Given the description of an element on the screen output the (x, y) to click on. 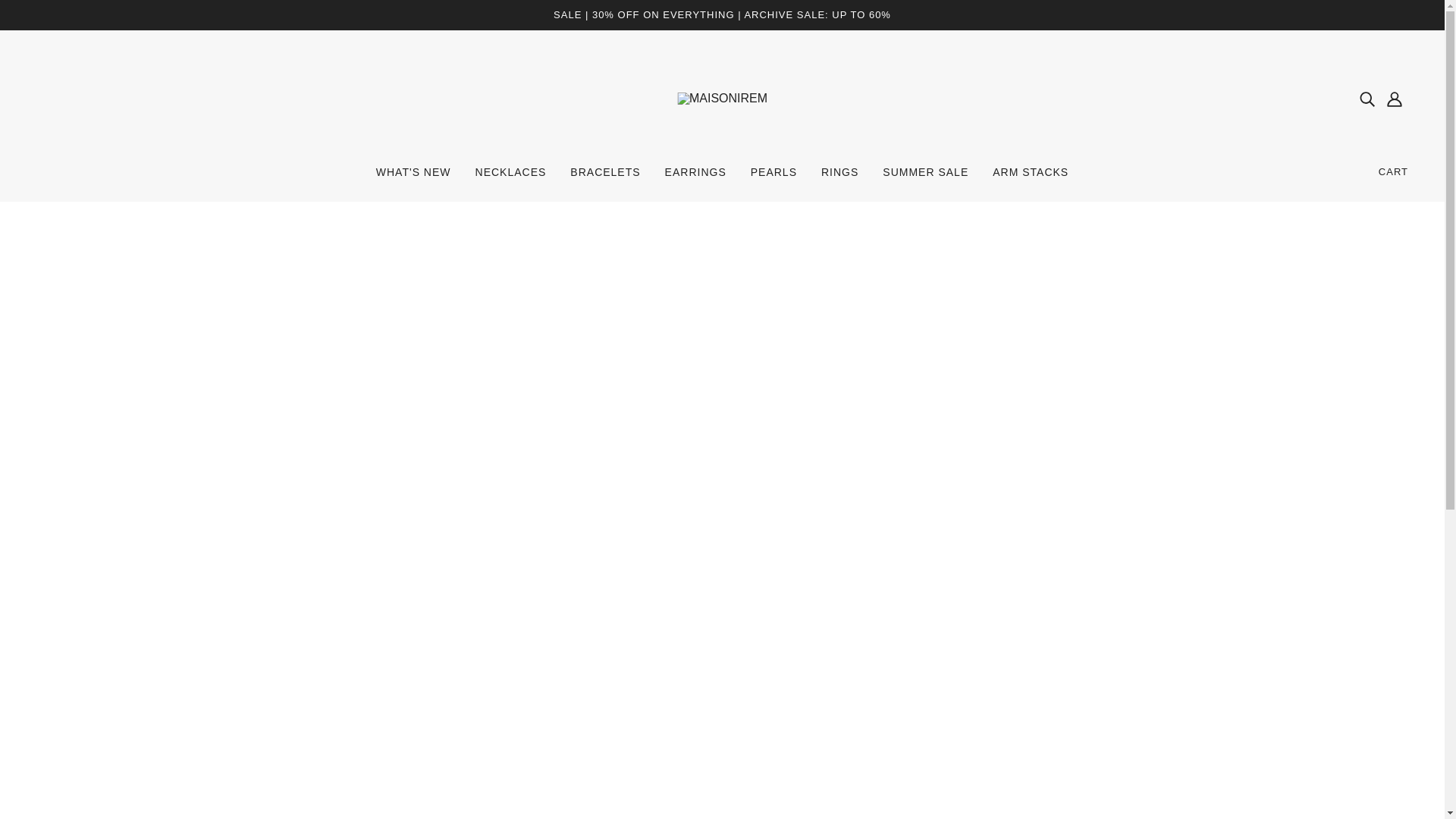
EARRINGS (695, 177)
WHAT'S NEW (413, 177)
BRACELETS (604, 177)
NECKLACES (511, 177)
MAISONIREM (722, 97)
RINGS (839, 177)
CART (1394, 171)
PEARLS (773, 177)
SUMMER SALE (924, 177)
ARM STACKS (1029, 177)
